Given the description of an element on the screen output the (x, y) to click on. 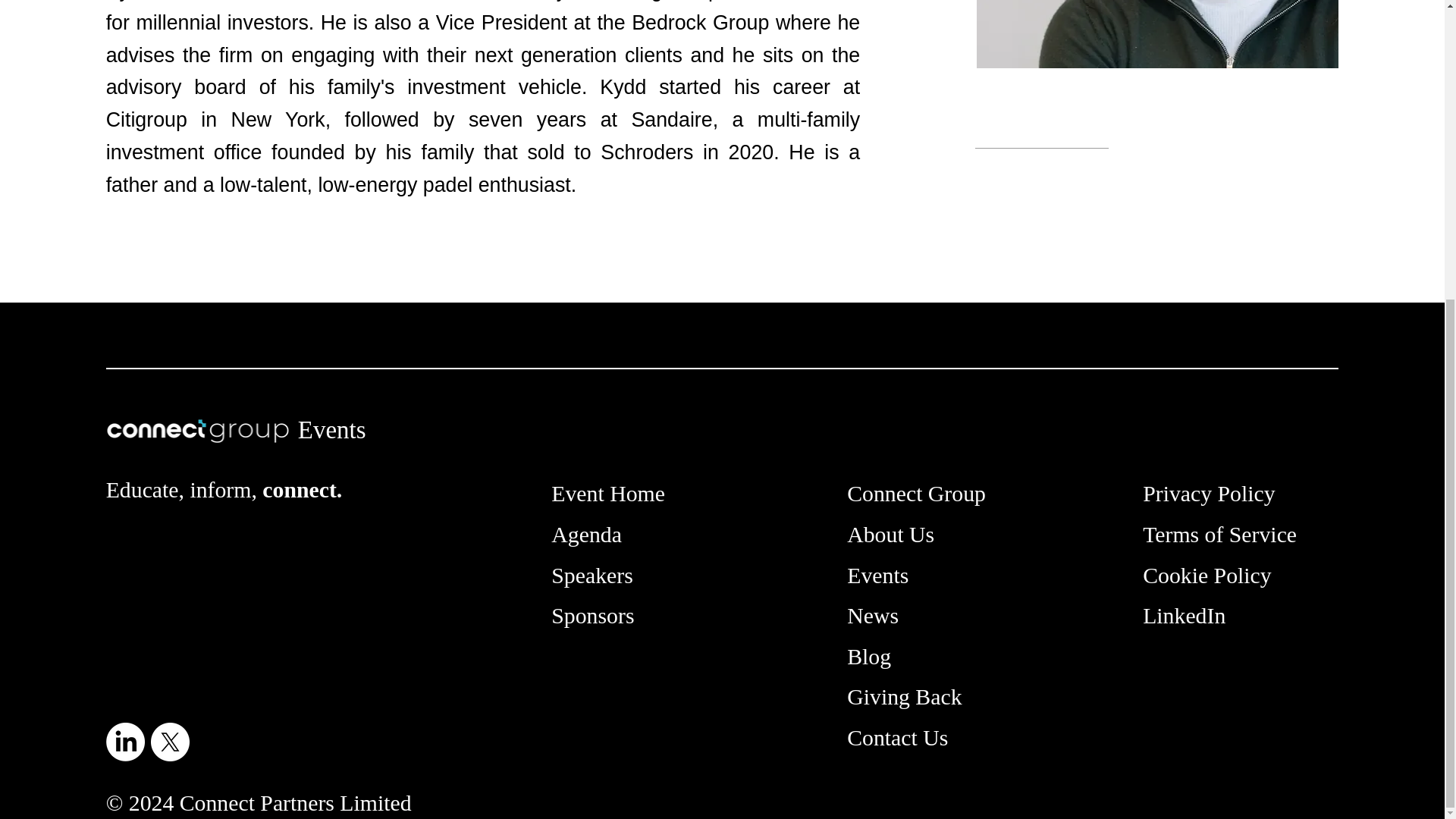
News (872, 615)
Giving Back (903, 696)
Terms of Service (1219, 534)
Connect Group (916, 493)
About Us (890, 534)
Event Home (608, 493)
Speakers (591, 575)
LinkedIn (1183, 615)
Events (877, 575)
Sponsors (592, 615)
Privacy Policy (1208, 493)
Contact Us (897, 737)
Cookie Policy (1206, 575)
Agenda (586, 534)
Blog (869, 656)
